Given the description of an element on the screen output the (x, y) to click on. 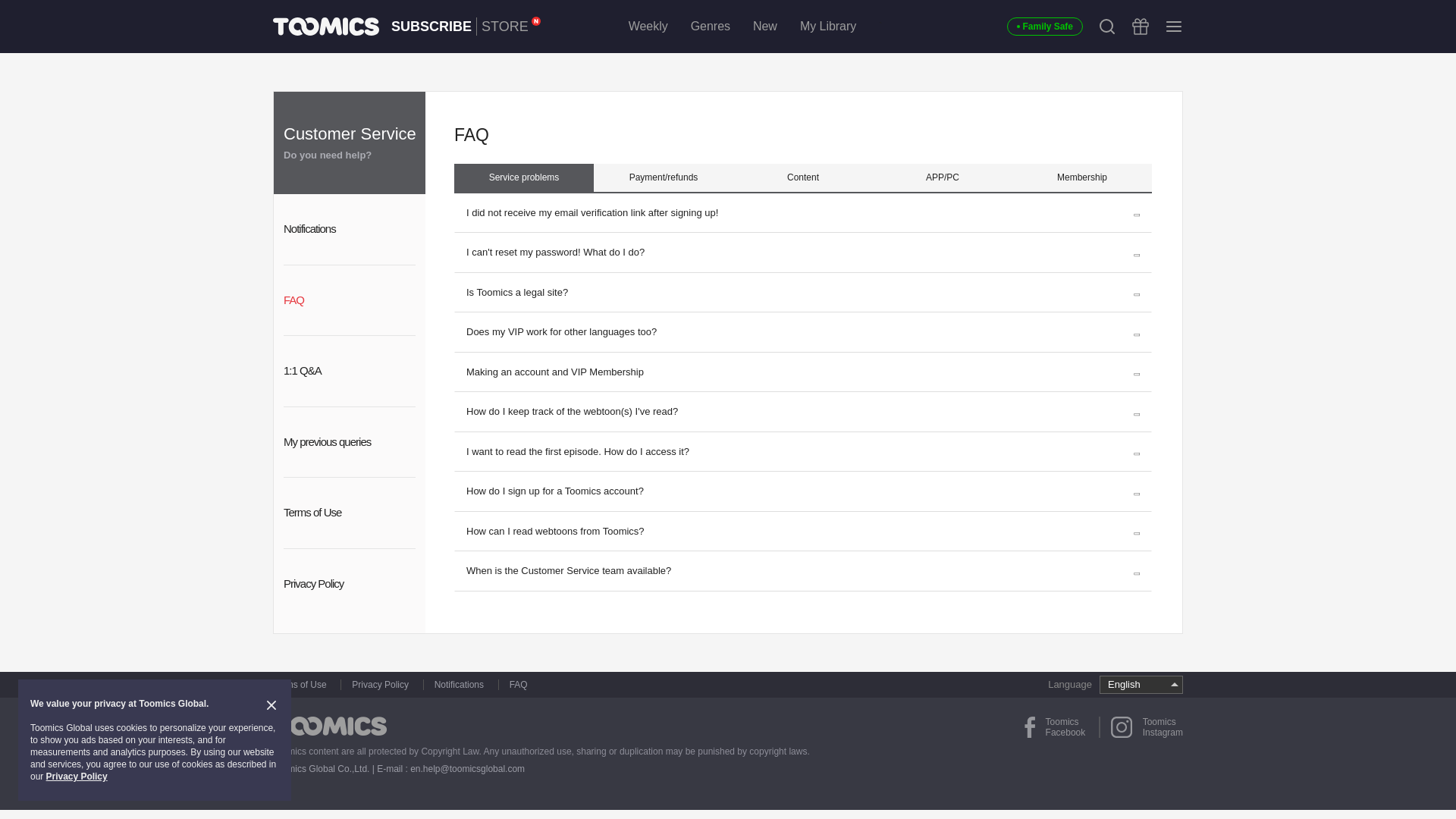
My Library (827, 25)
Family Safe (1045, 26)
Membership (1081, 177)
My previous queries (348, 441)
Search (1106, 26)
Notifications (510, 26)
dropdown menu (348, 229)
Content (1173, 26)
TOOMICS (802, 177)
